Given the description of an element on the screen output the (x, y) to click on. 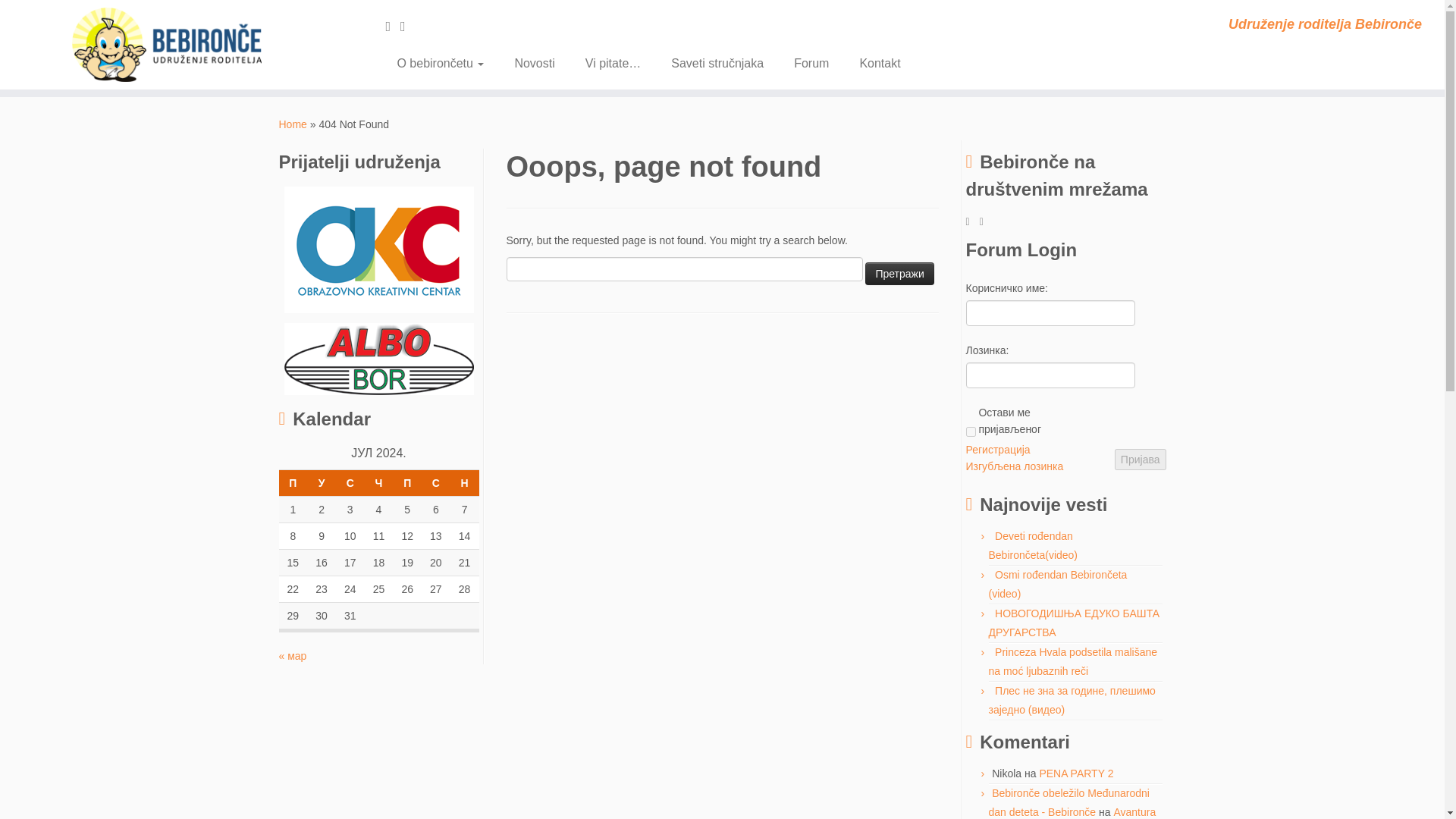
PENA PARTY 2 (1076, 773)
Obrazovno kreativni centar (378, 249)
Follow me on Facebook (407, 26)
Novosti (534, 62)
Subscribe to my rss feed (972, 221)
Kontakt (871, 62)
forever (970, 431)
Forum (811, 62)
Albo (378, 358)
Subscribe to my rss feed (392, 26)
Follow me on Facebook (985, 221)
Home (293, 123)
